Given the description of an element on the screen output the (x, y) to click on. 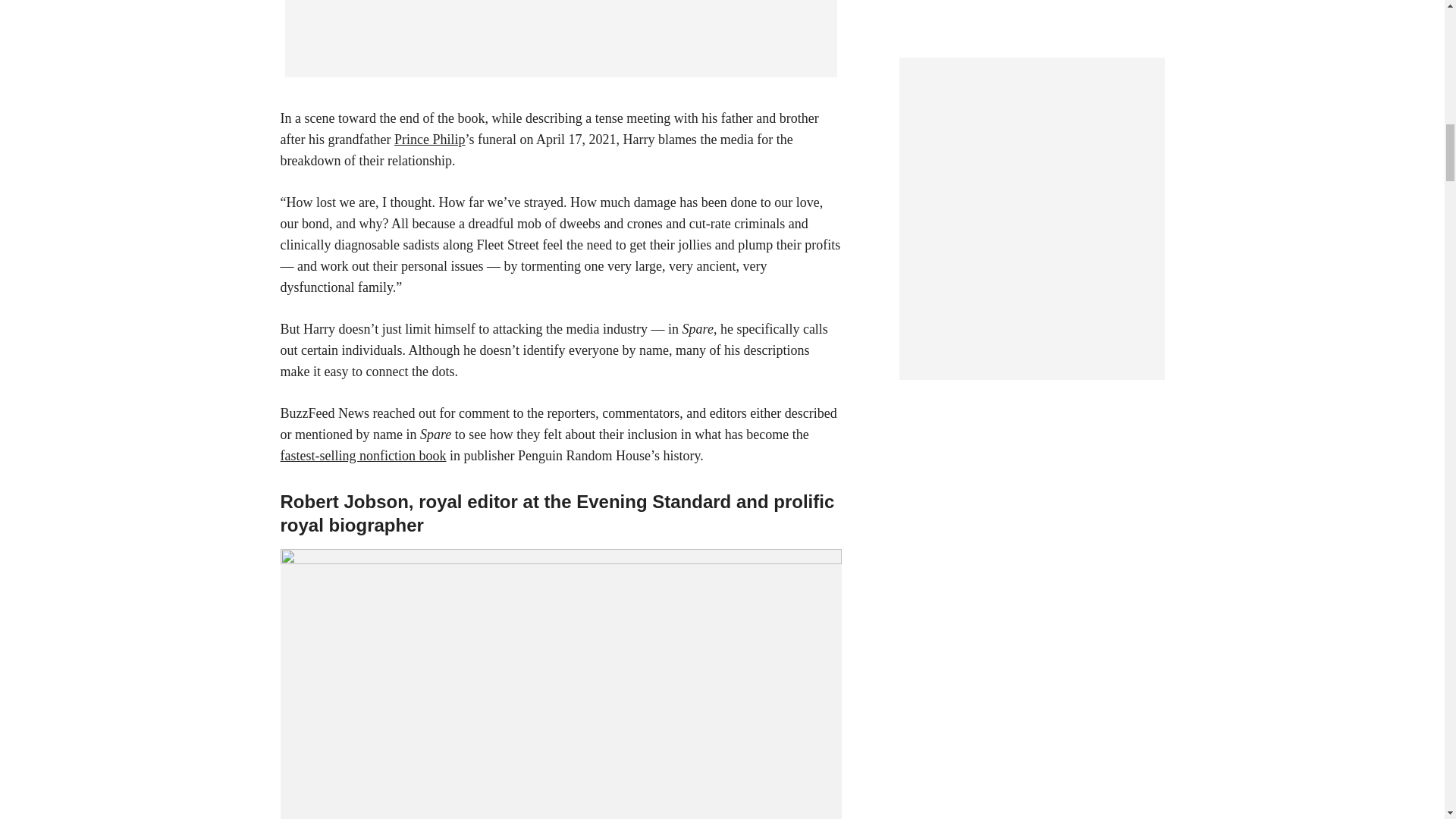
fastest-selling nonfiction book (363, 455)
Prince Philip (429, 139)
